Given the description of an element on the screen output the (x, y) to click on. 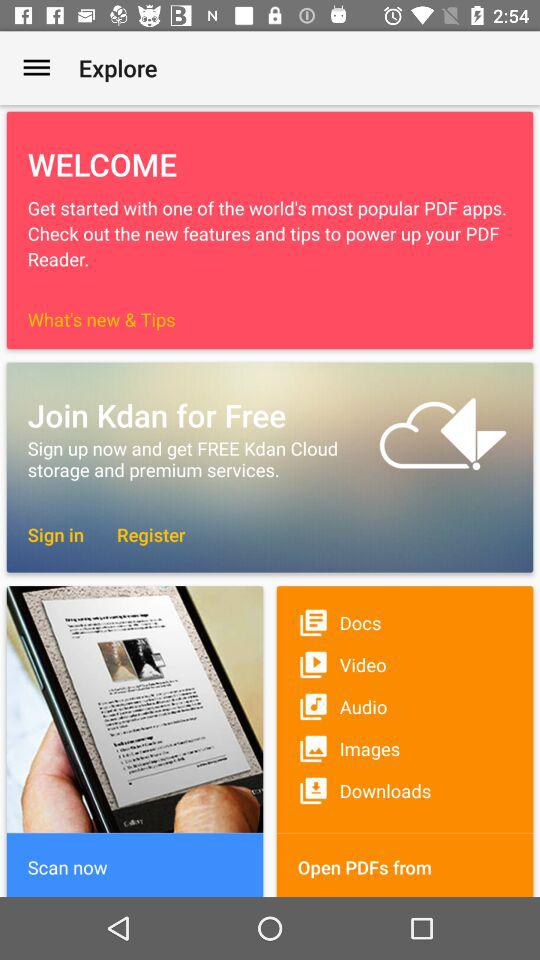
flip to images (404, 748)
